Given the description of an element on the screen output the (x, y) to click on. 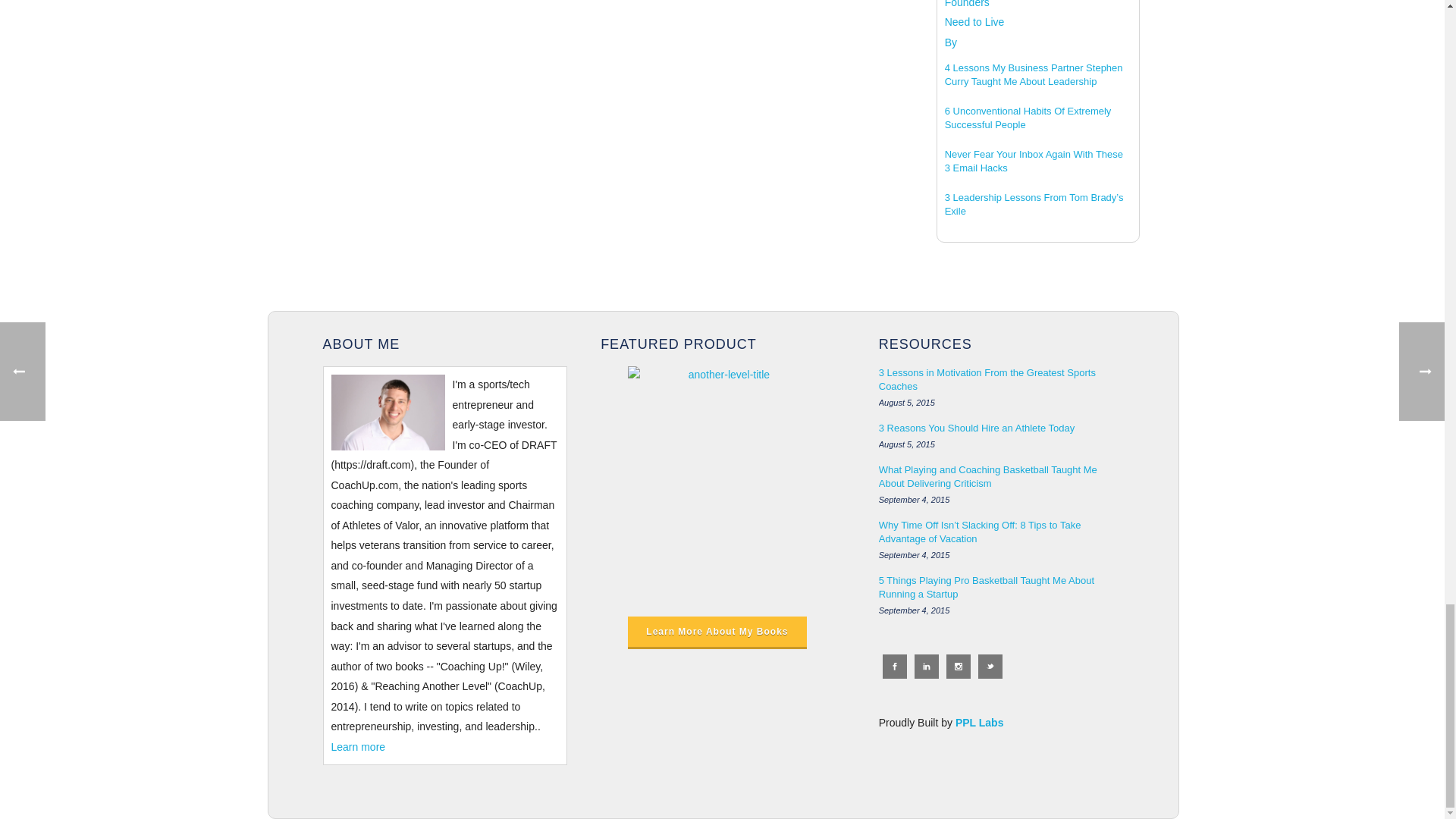
Follow Us on facebook (894, 666)
Learn More About My Books (716, 631)
4 Startup Rules All Founders Need to Live By (975, 26)
Follow Us on instagram (958, 666)
Follow Us on linkedin (926, 666)
Follow Us on twitter (990, 666)
